Given the description of an element on the screen output the (x, y) to click on. 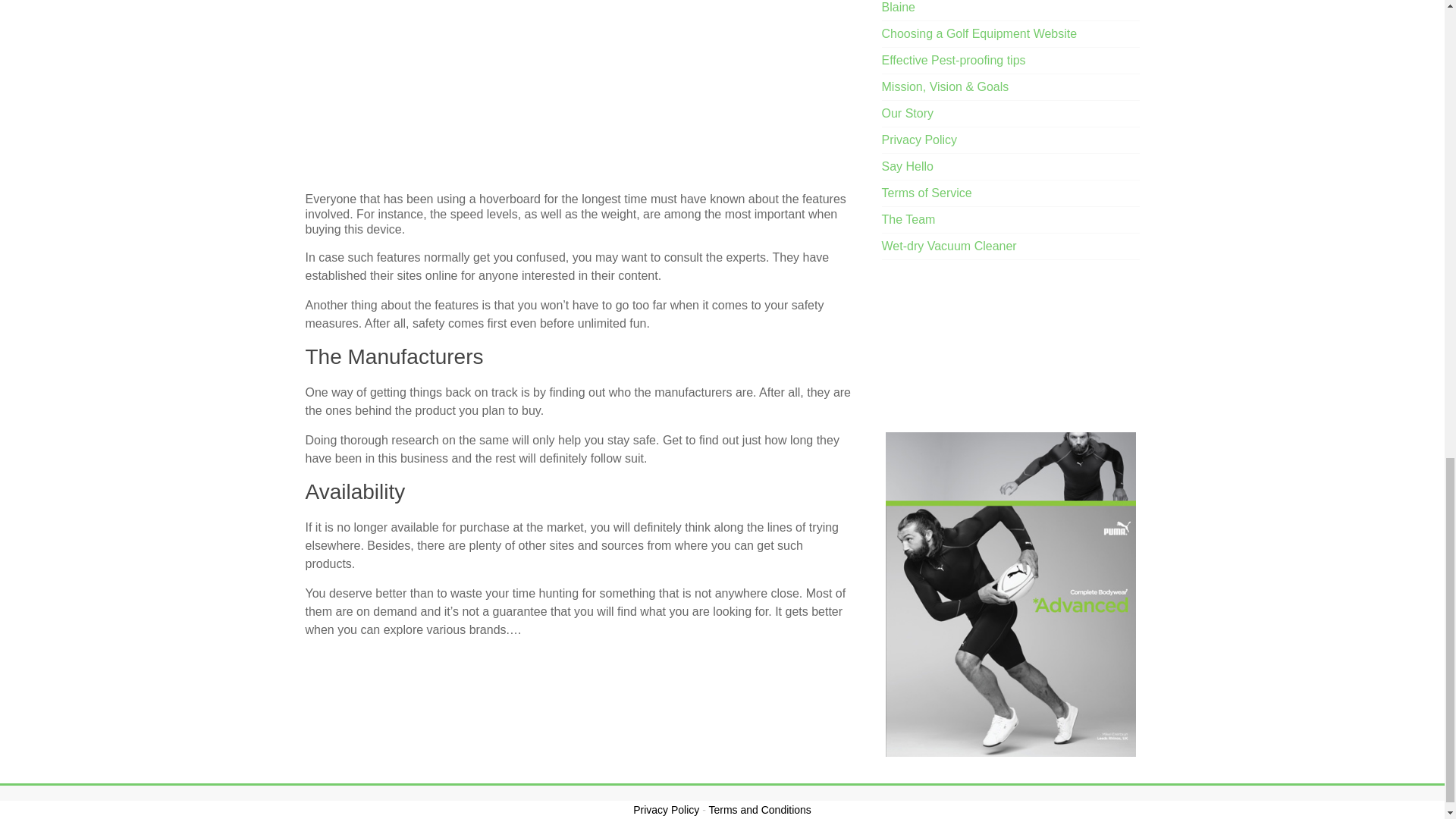
Effective Pest-proofing tips (954, 60)
Our Story (907, 113)
Blaine (898, 6)
The Team (909, 219)
Say Hello (907, 165)
Terms of Service (927, 192)
Choosing a Golf Equipment Website (979, 33)
Wet-dry Vacuum Cleaner (949, 245)
Privacy Policy (920, 139)
